Given the description of an element on the screen output the (x, y) to click on. 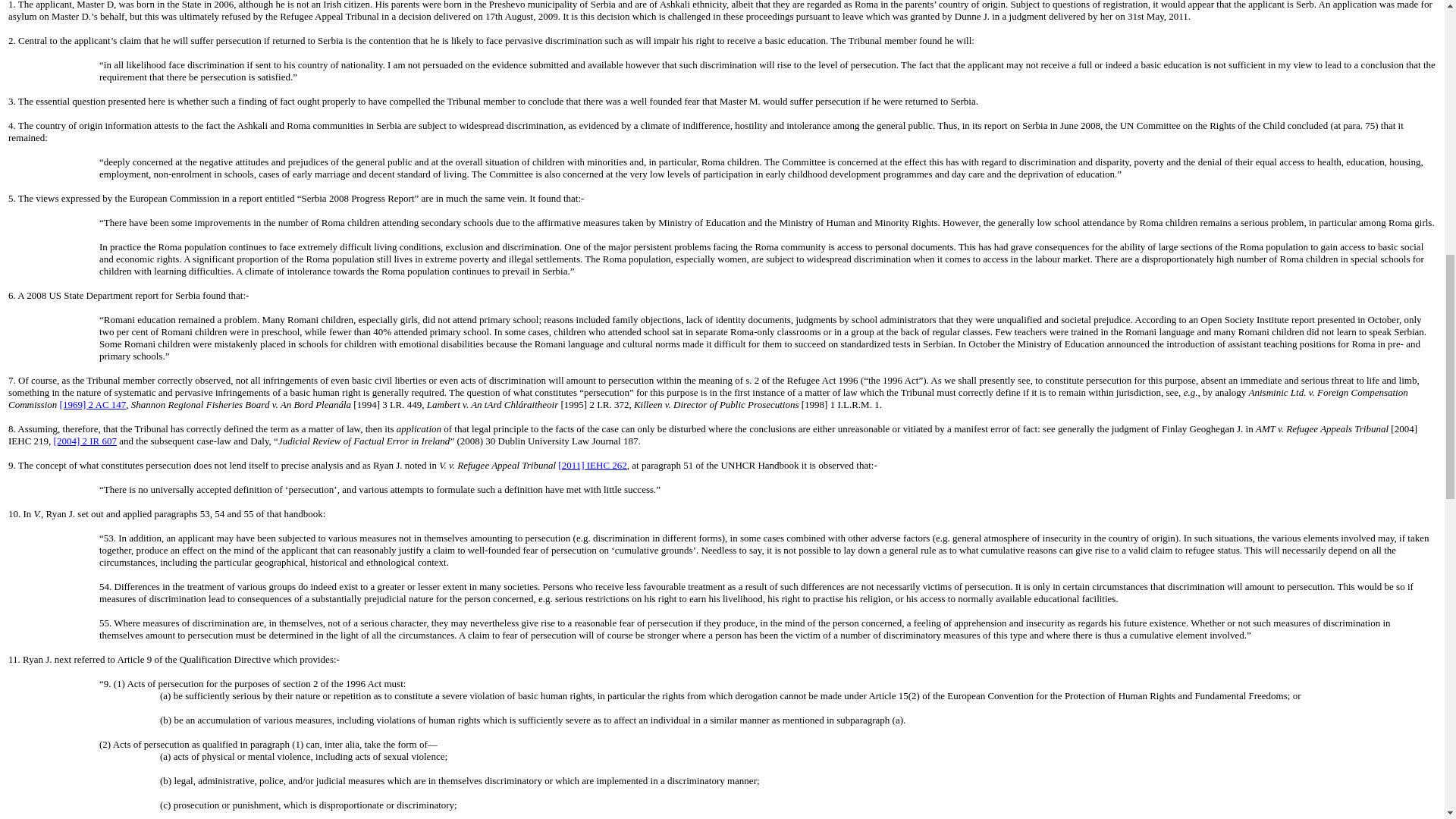
Link to BAILII version (592, 464)
Link to BAILII version (84, 440)
Link to BAILII version (92, 404)
